Given the description of an element on the screen output the (x, y) to click on. 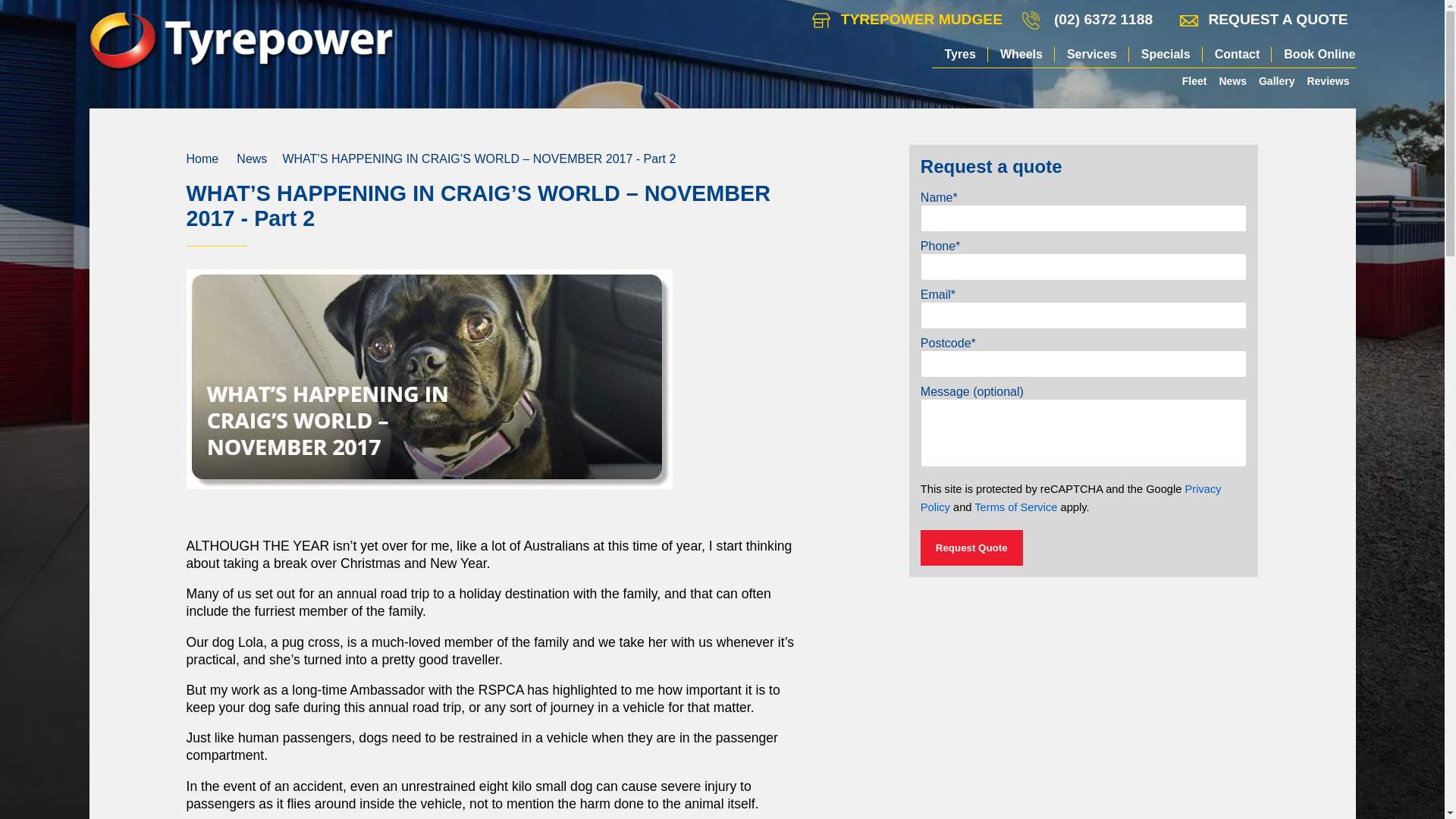
Services (1091, 54)
Fleet (1194, 80)
Reviews (1327, 80)
Contact (1237, 54)
Click to call now! (1103, 20)
Tyres (959, 54)
TYREPOWER MUDGEE (907, 20)
Contact Tyrepower Mudgee (907, 20)
REQUEST A QUOTE (1263, 20)
Book Online (1313, 54)
